Given the description of an element on the screen output the (x, y) to click on. 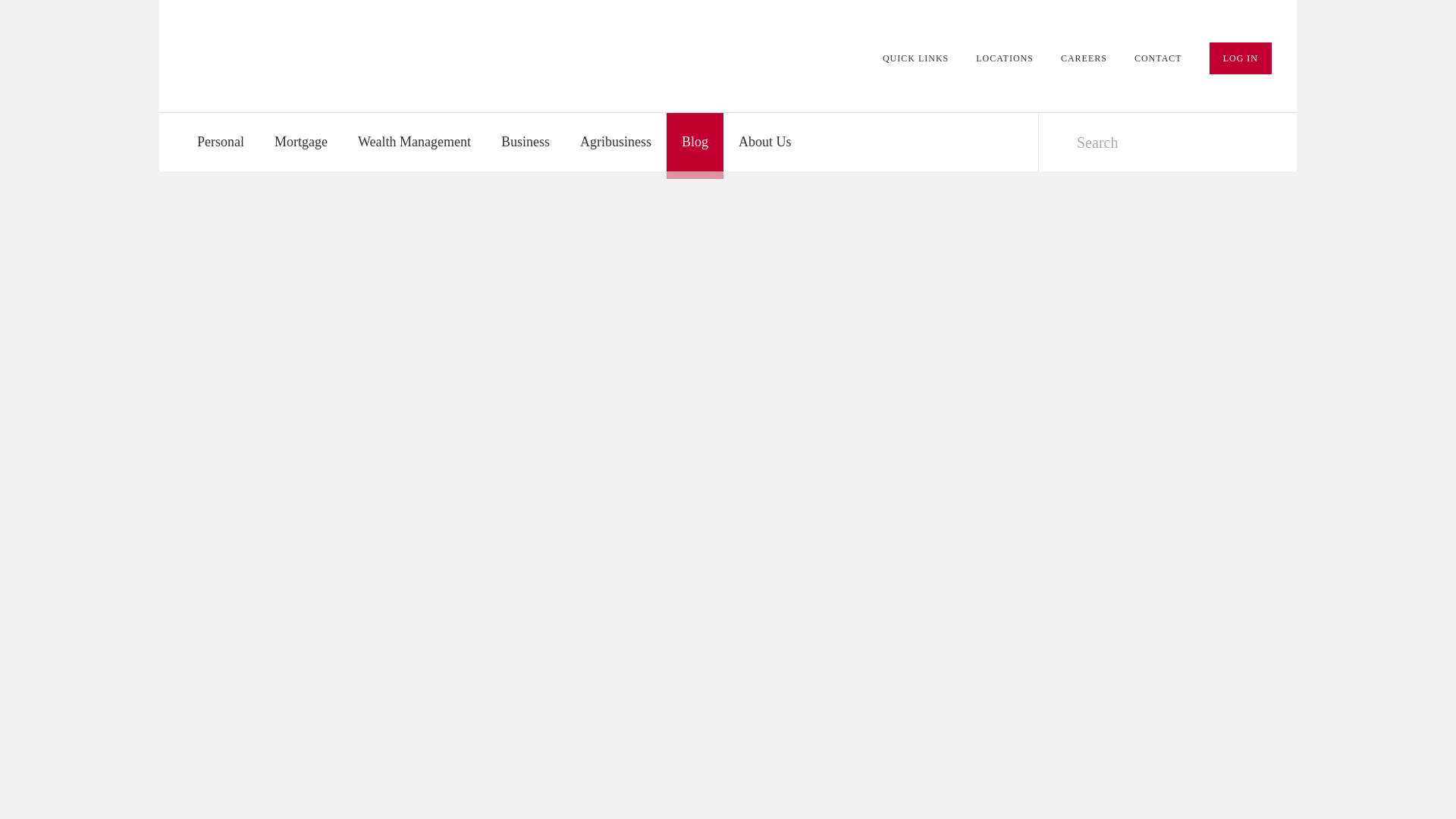
LOG IN (1240, 58)
Personal (220, 142)
CAREERS (1083, 58)
LOCATIONS (1004, 58)
CONTACT (1158, 58)
The First National Bank in Sioux Falls (299, 52)
QUICK LINKS (915, 58)
